Given the description of an element on the screen output the (x, y) to click on. 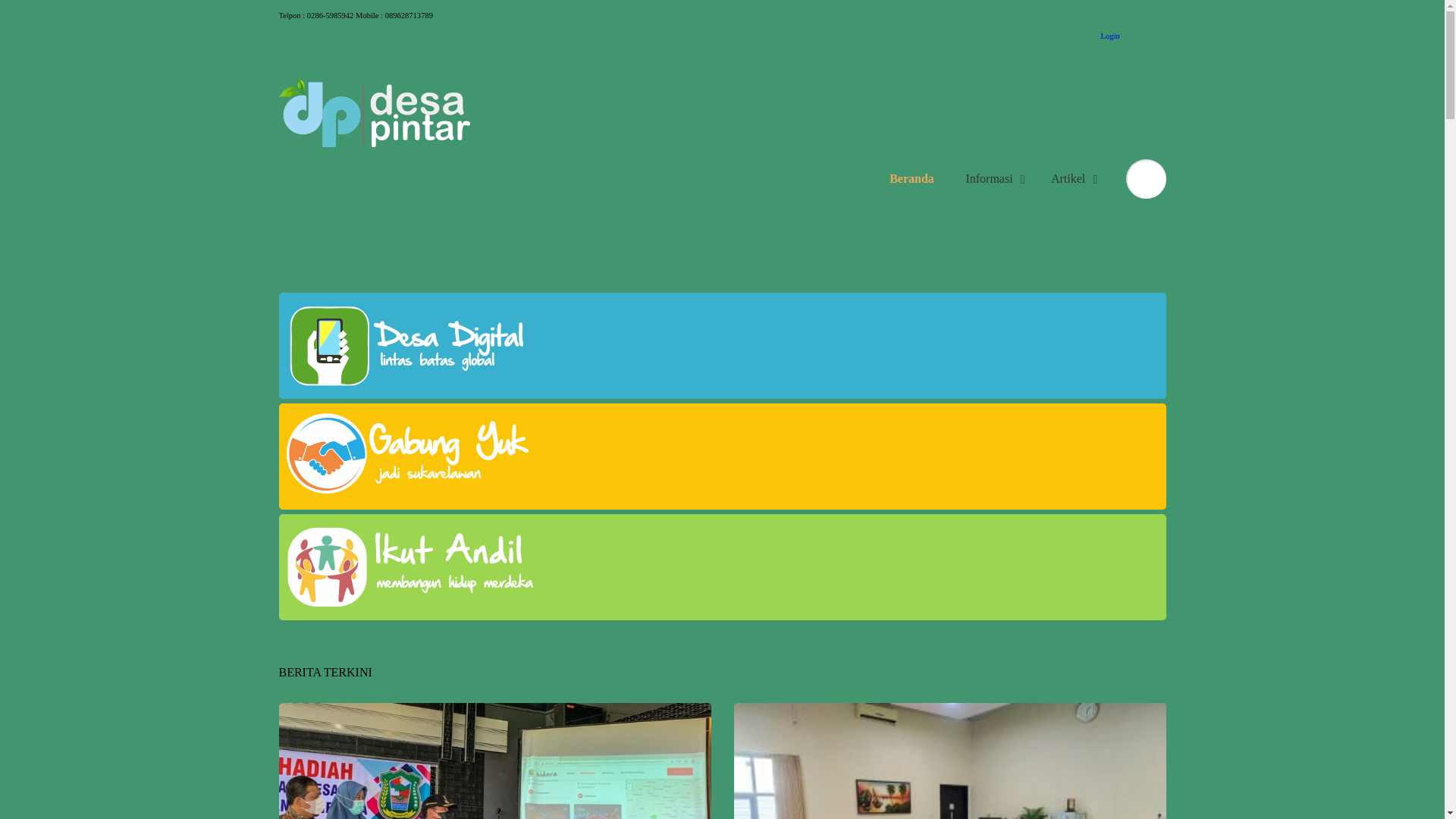
Informasi Element type: text (992, 178)
Login Element type: text (1107, 35)
Artikel Element type: text (1071, 178)
370bnr3 Element type: hover (419, 345)
370bnr1 Element type: hover (419, 567)
370bnr2 Element type: hover (419, 456)
Beranda Element type: text (911, 178)
